Given the description of an element on the screen output the (x, y) to click on. 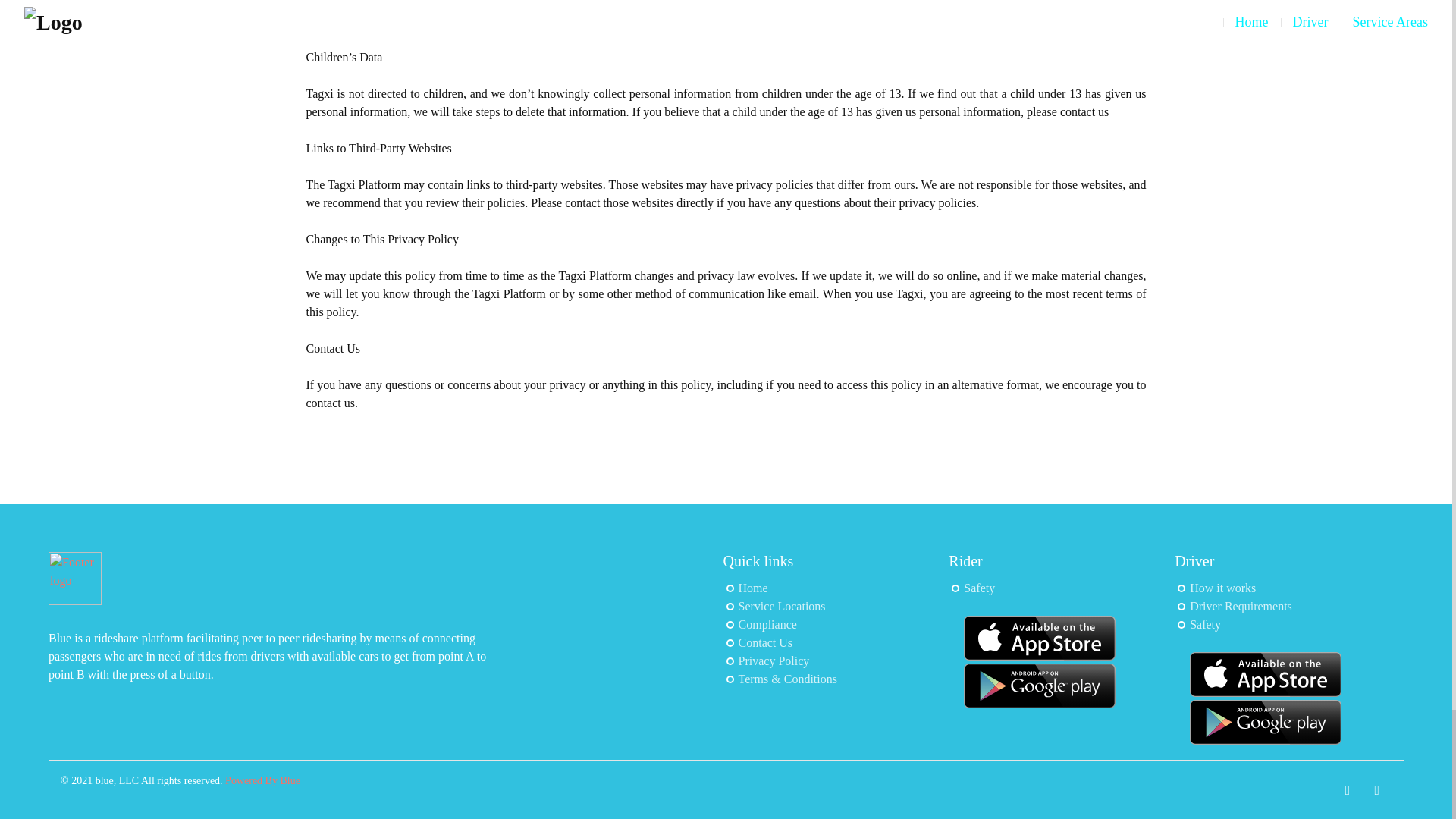
Safety (1205, 624)
Home (753, 587)
Privacy Policy (773, 660)
Driver Requirements (1240, 605)
Compliance (767, 624)
Powered By Blue (262, 780)
Contact Us (765, 642)
Safety (978, 587)
How it works (1222, 587)
Service Locations (781, 605)
